Given the description of an element on the screen output the (x, y) to click on. 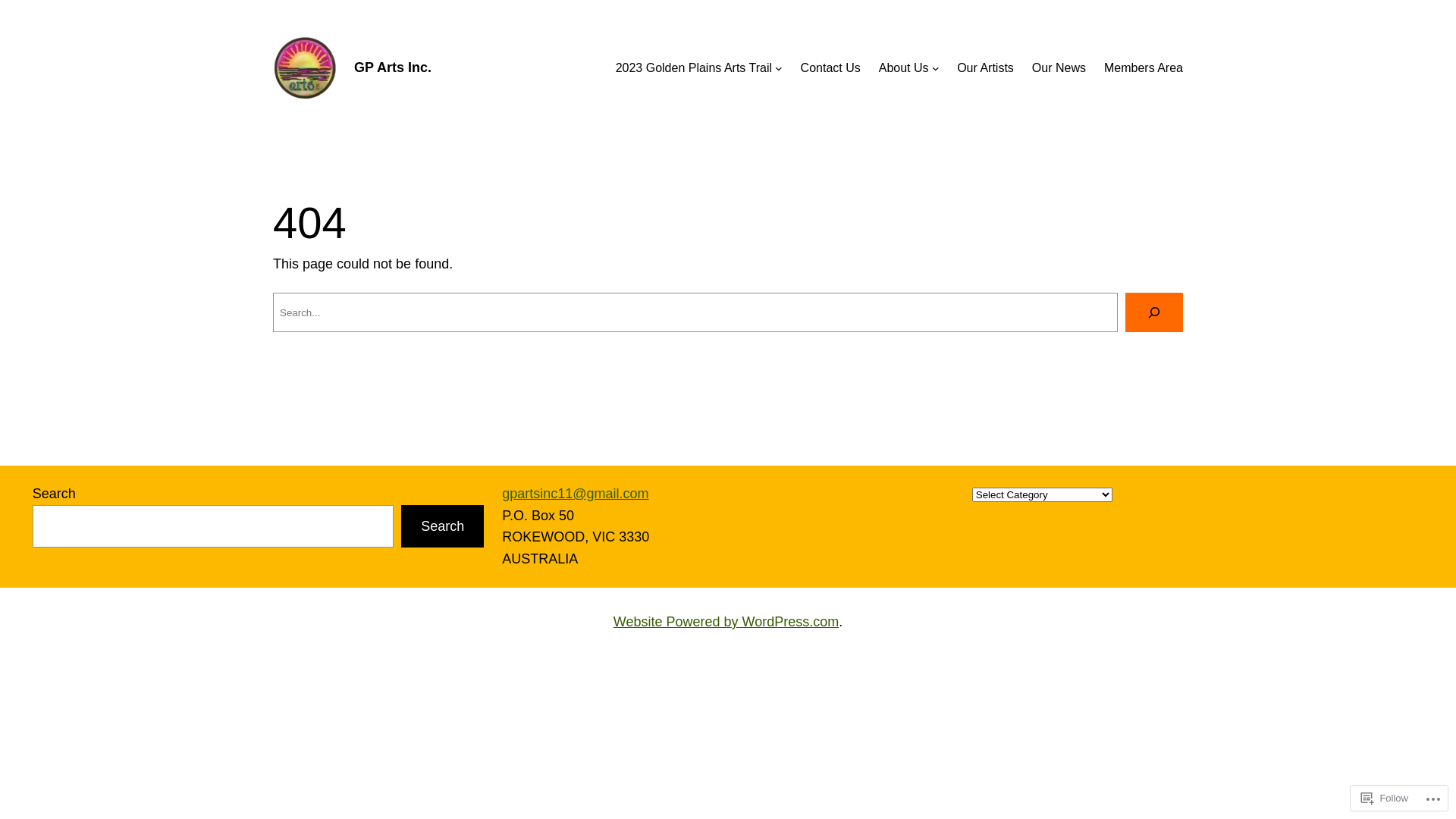
Our News Element type: text (1058, 68)
Website Powered by WordPress.com Element type: text (725, 621)
About Us Element type: text (903, 68)
Our Artists Element type: text (985, 68)
Search Element type: text (442, 526)
Contact Us Element type: text (830, 68)
gpartsinc11@gmail.com Element type: text (575, 493)
Follow Element type: text (1384, 797)
Members Area Element type: text (1143, 68)
GP Arts Inc. Element type: text (392, 67)
2023 Golden Plains Arts Trail Element type: text (693, 68)
